Given the description of an element on the screen output the (x, y) to click on. 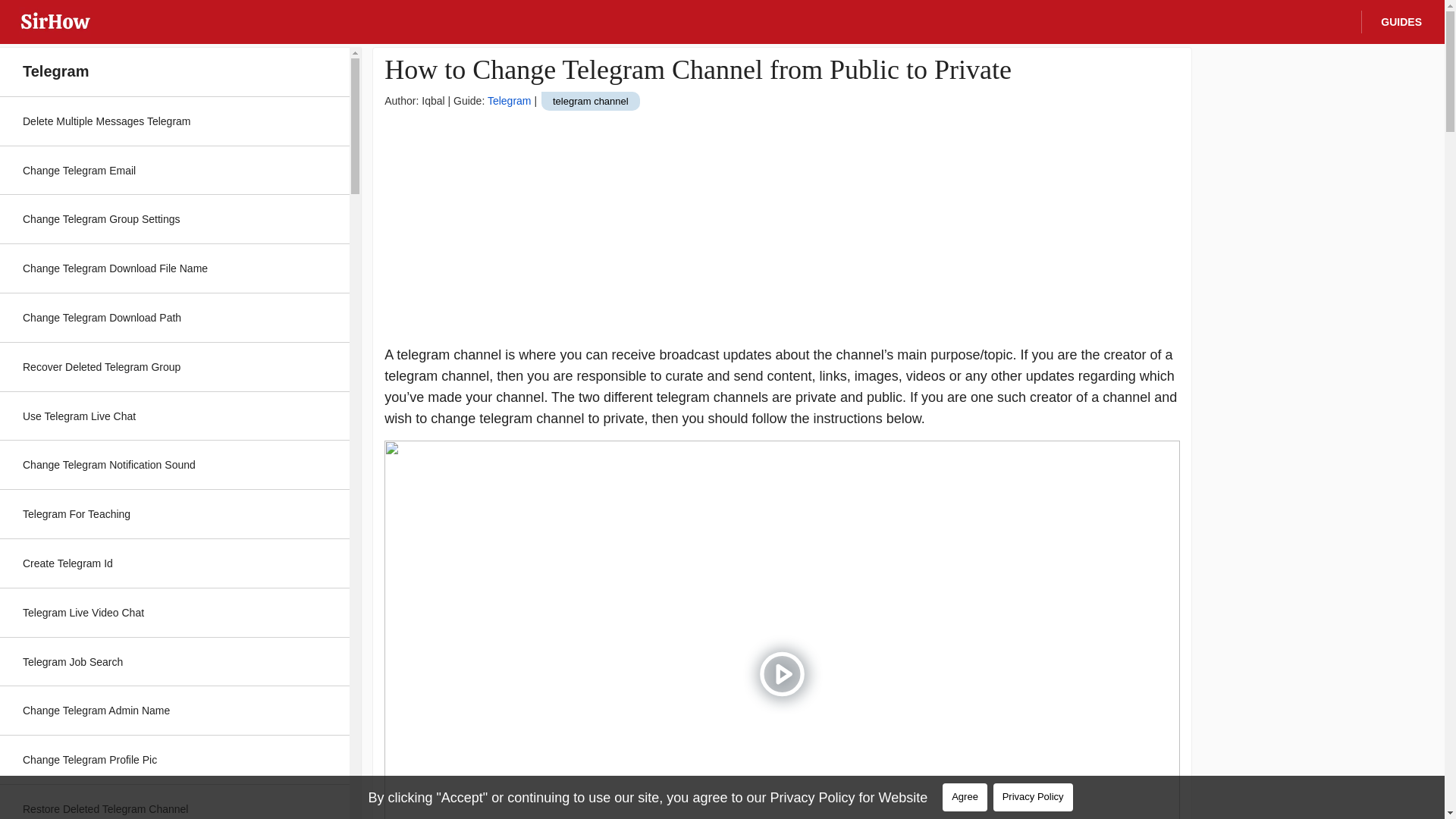
GUIDES (1397, 22)
